Given the description of an element on the screen output the (x, y) to click on. 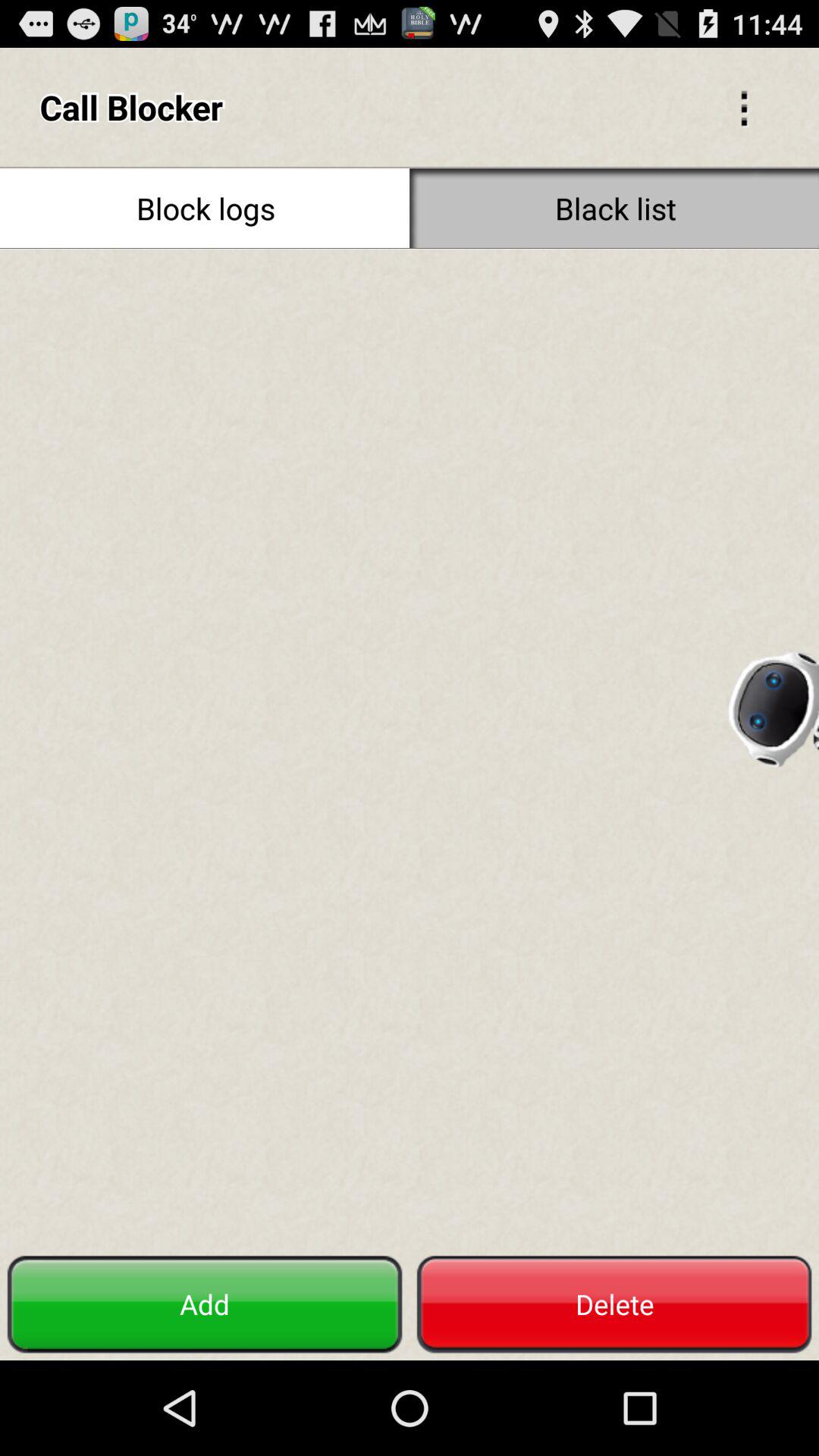
turn on button at the bottom left corner (204, 1304)
